Given the description of an element on the screen output the (x, y) to click on. 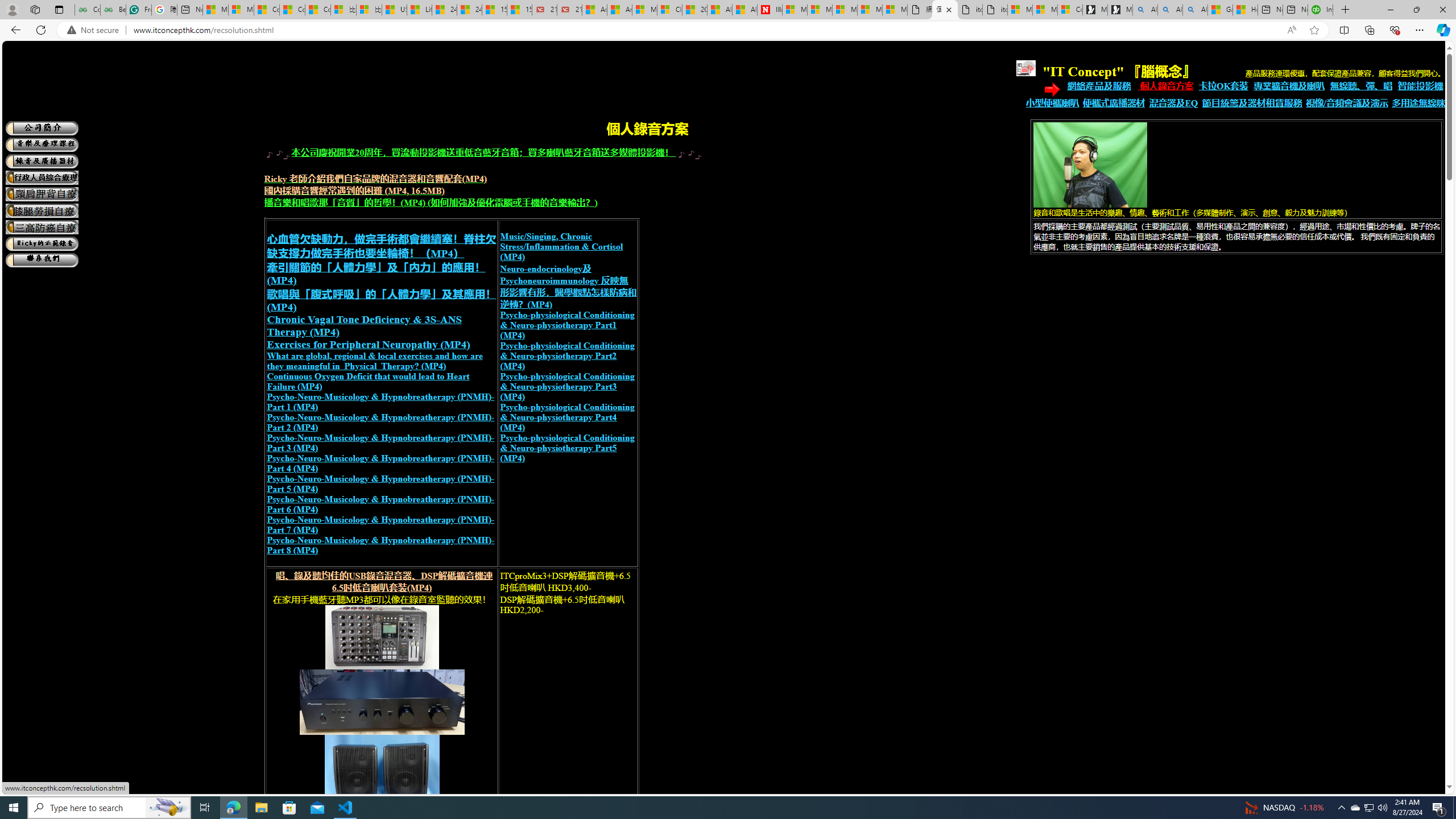
Best SSL Certificates Provider in India - GeeksforGeeks (113, 9)
20 Ways to Boost Your Protein Intake at Every Meal (694, 9)
